Given the description of an element on the screen output the (x, y) to click on. 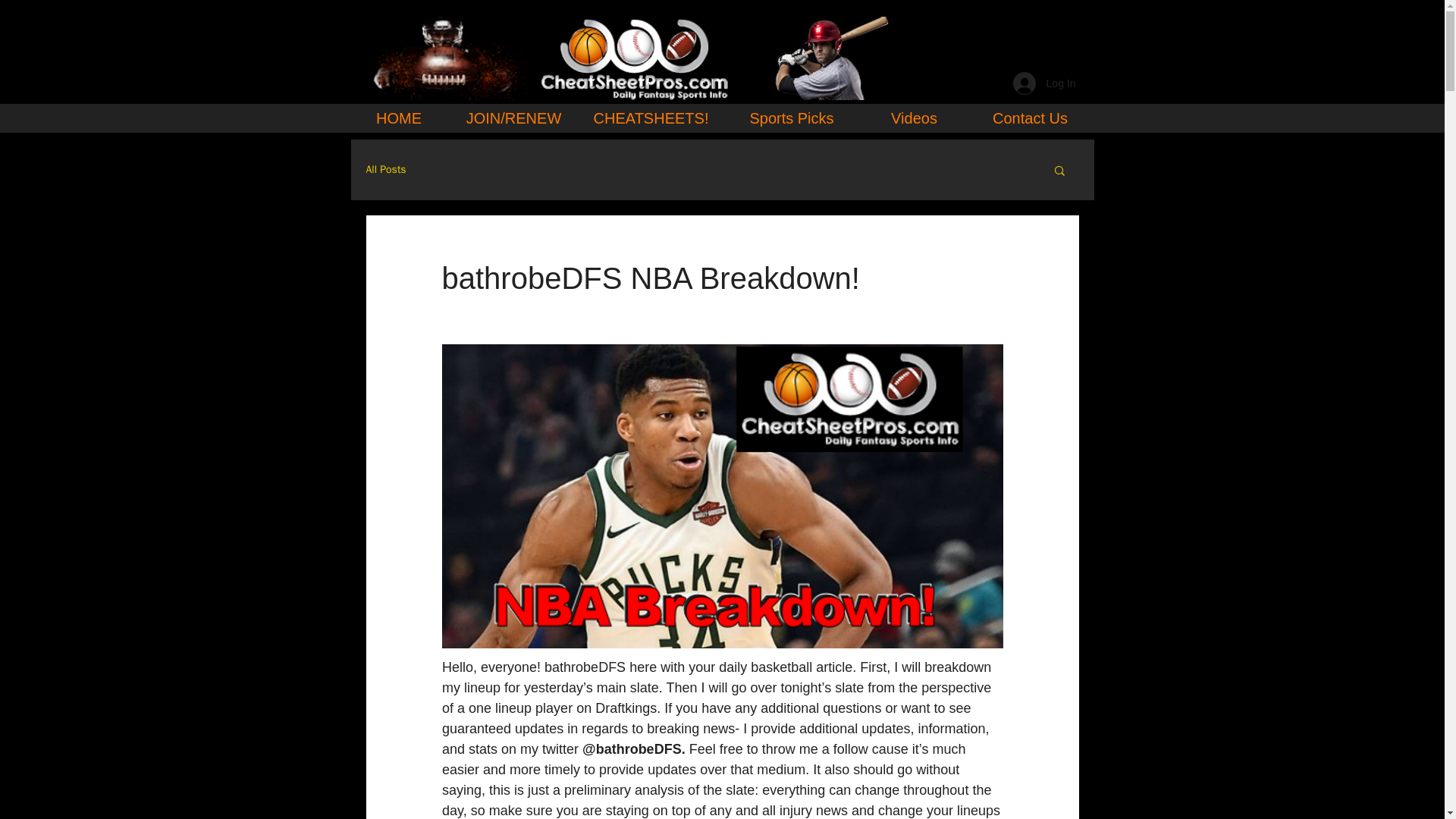
Videos (913, 118)
HOME (398, 118)
Contact Us (1029, 118)
CHEATSHEETS! (651, 118)
Sports Picks (791, 118)
Log In (1044, 83)
All Posts (385, 169)
